Given the description of an element on the screen output the (x, y) to click on. 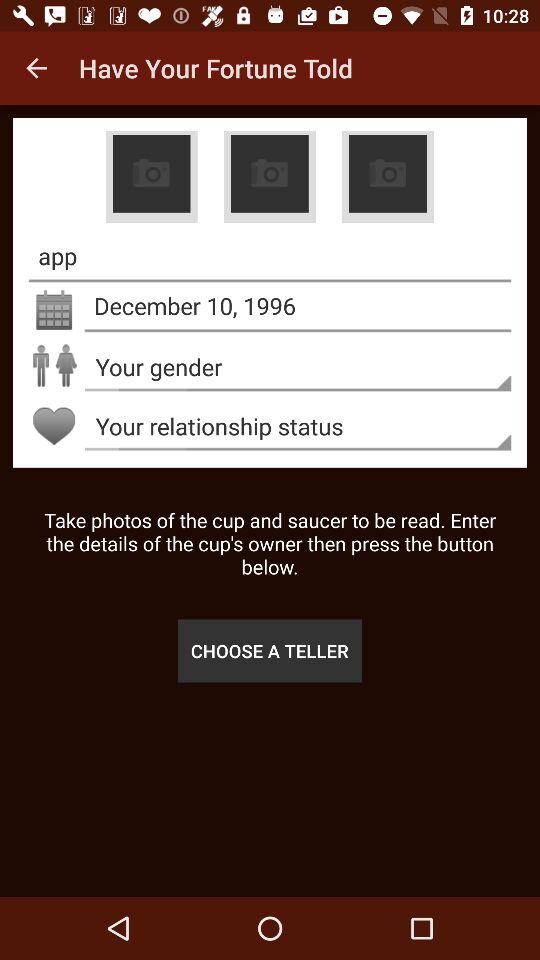
select the image (151, 177)
